Given the description of an element on the screen output the (x, y) to click on. 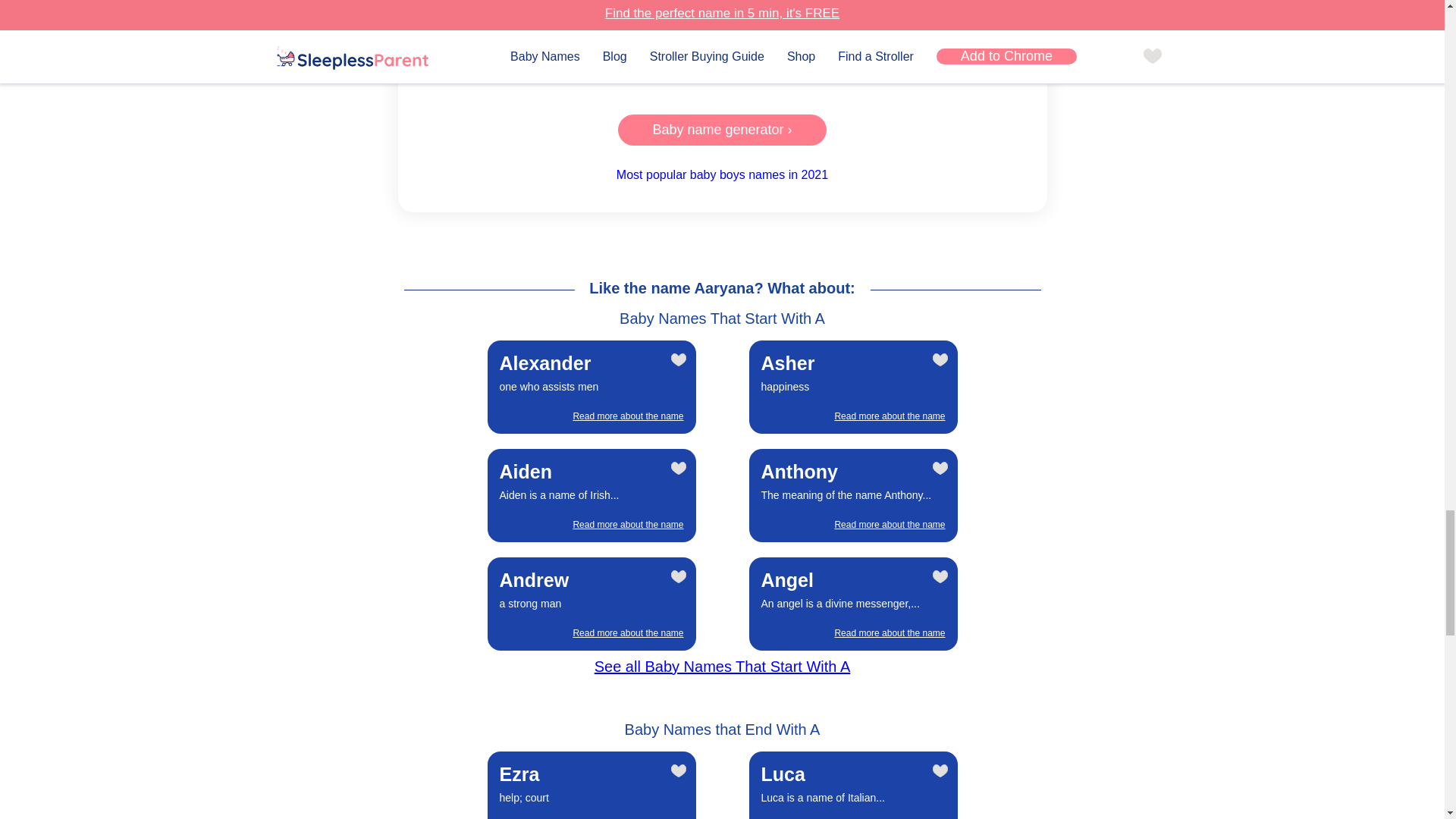
Most popular baby boys names in 2021 (721, 174)
See all Baby Names That Start With A (591, 386)
YouTube video player (591, 603)
